Given the description of an element on the screen output the (x, y) to click on. 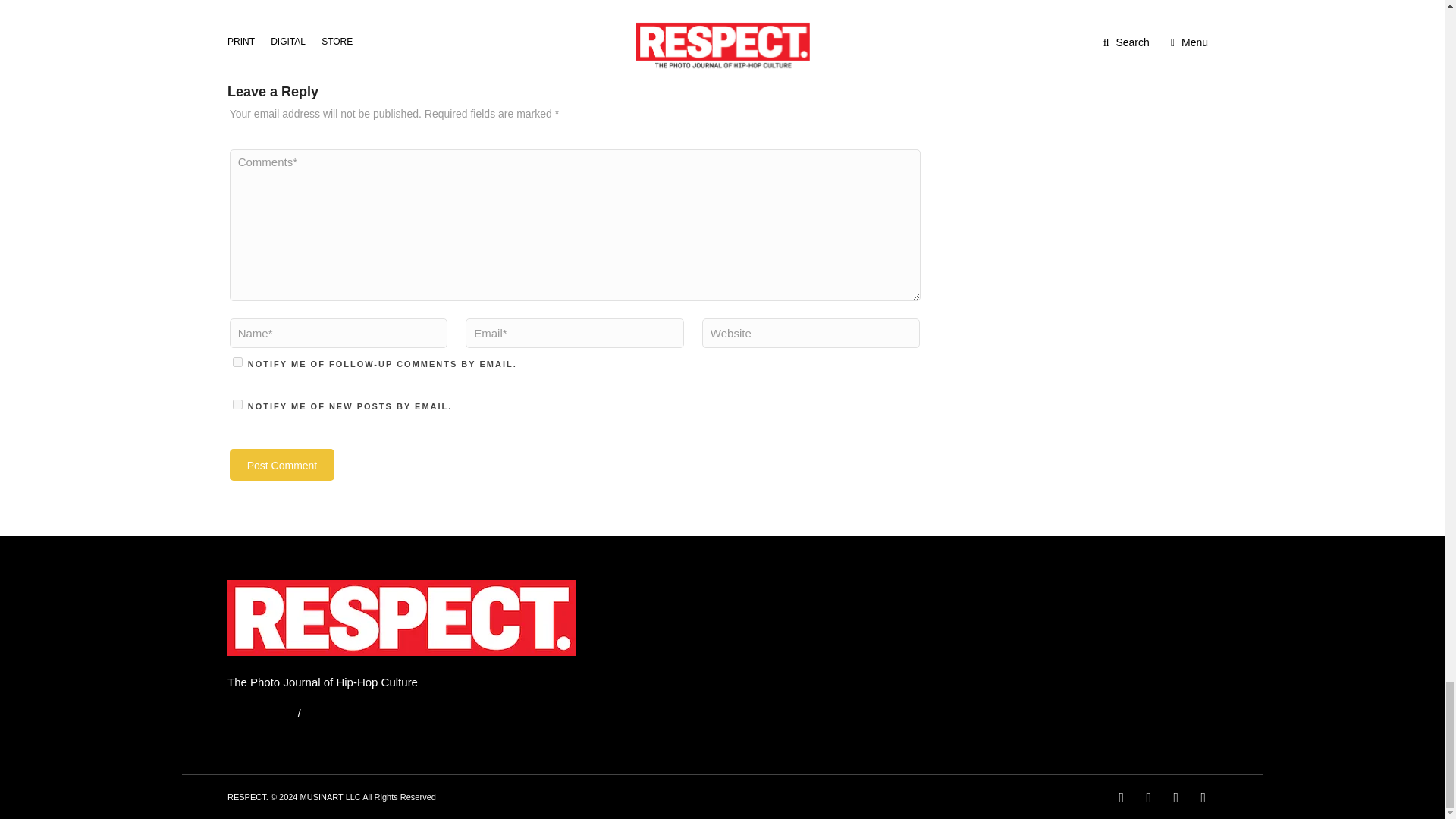
subscribe (237, 404)
subscribe (237, 361)
Post Comment (282, 464)
